Given the description of an element on the screen output the (x, y) to click on. 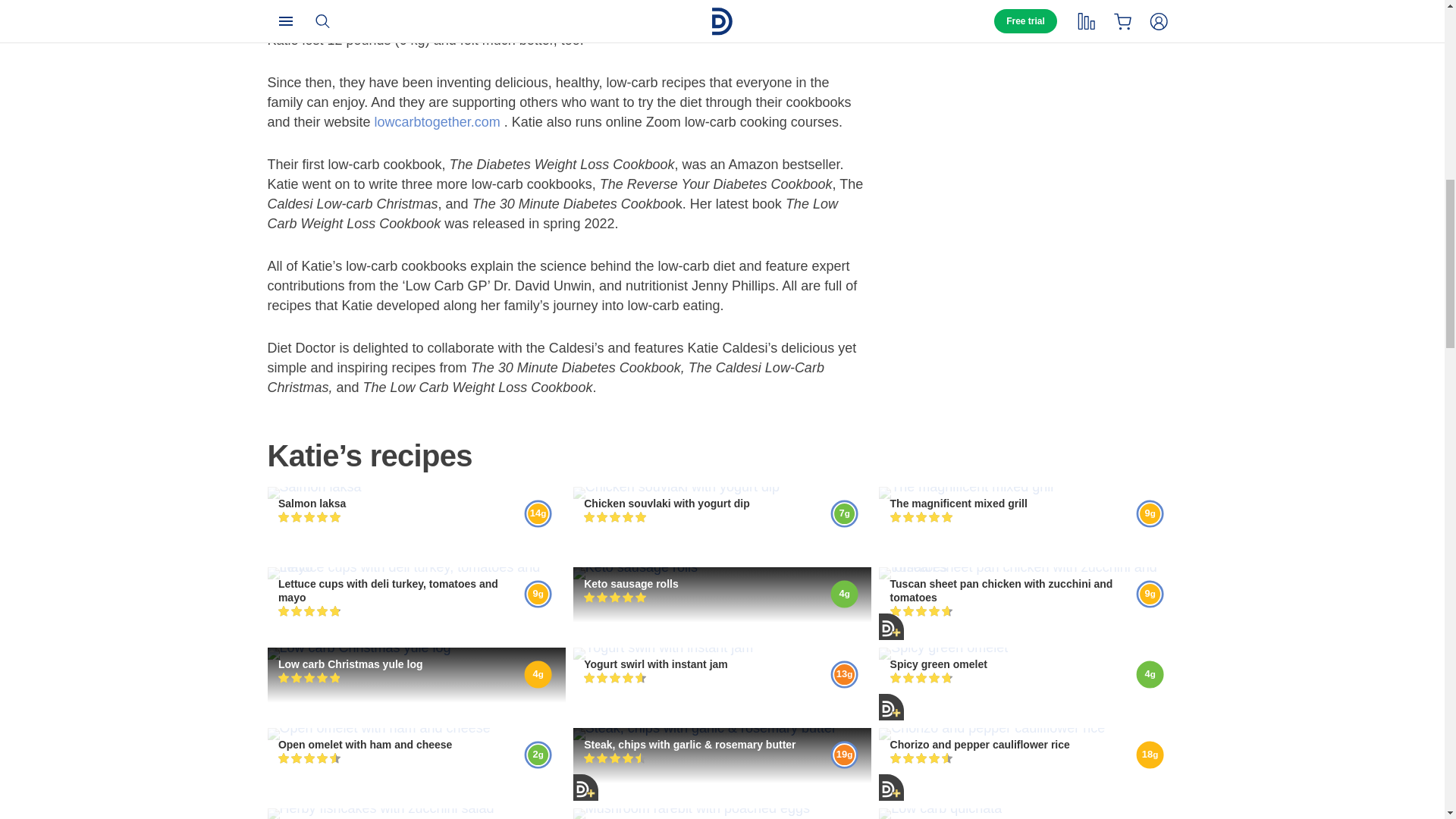
9g (1150, 594)
7g (844, 513)
19g (844, 754)
9g (1150, 513)
18g (1150, 754)
4g (537, 674)
4g (1150, 674)
9g (537, 594)
2g (537, 754)
14g (537, 513)
